Given the description of an element on the screen output the (x, y) to click on. 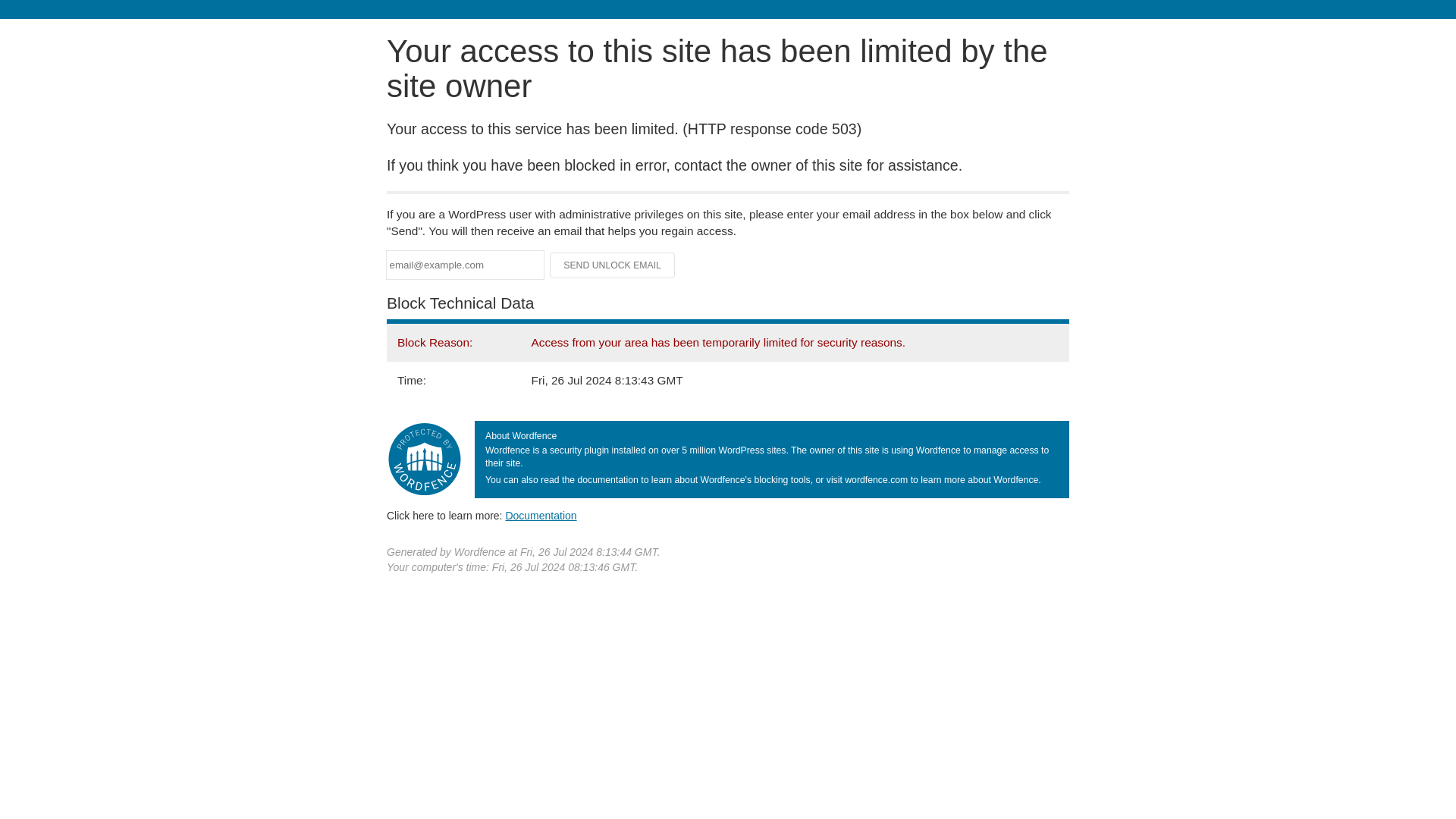
Send Unlock Email (612, 265)
Documentation (540, 515)
Send Unlock Email (612, 265)
